Given the description of an element on the screen output the (x, y) to click on. 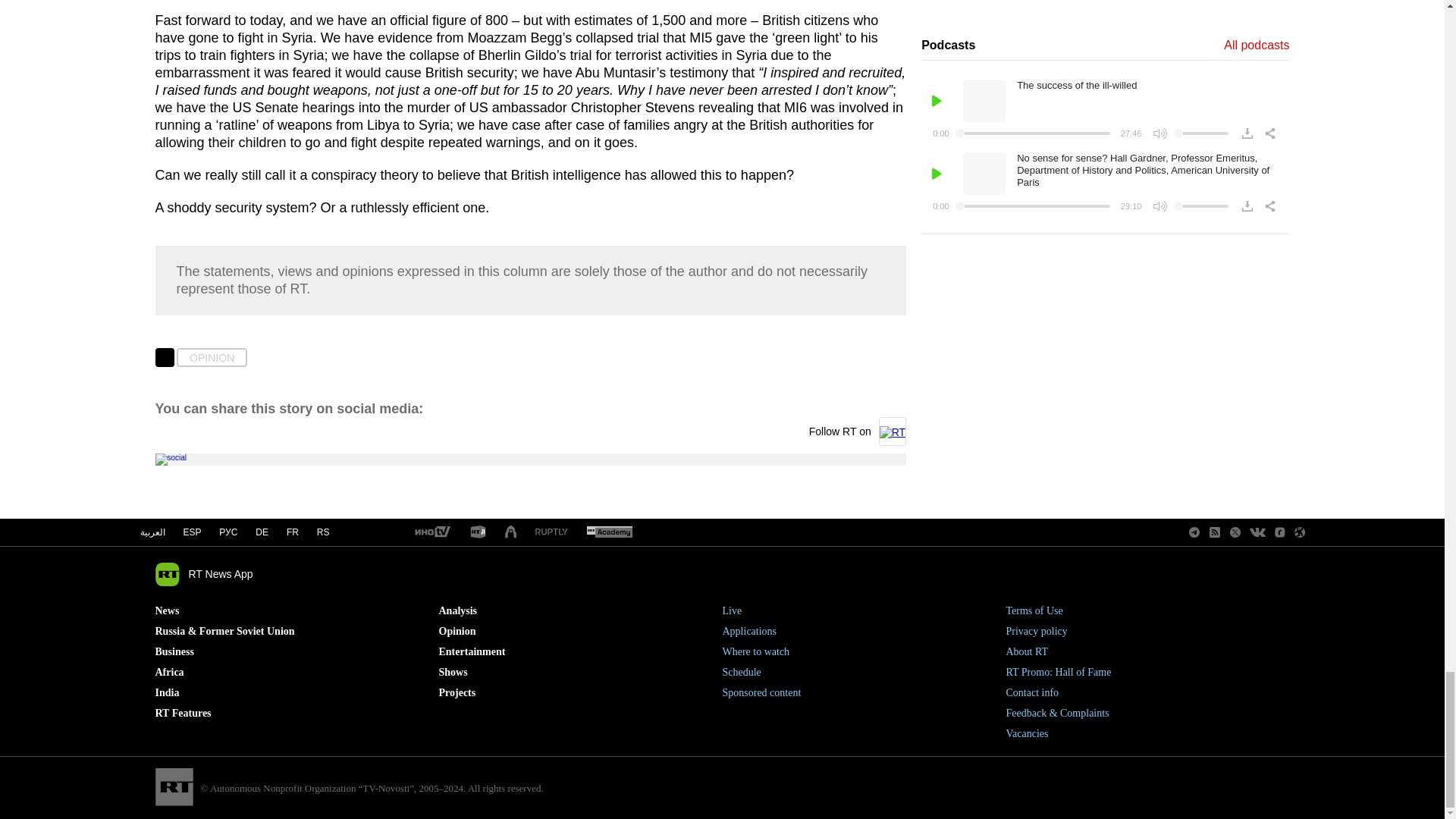
RT  (431, 532)
RT  (551, 532)
RT  (608, 532)
RT  (478, 532)
